Given the description of an element on the screen output the (x, y) to click on. 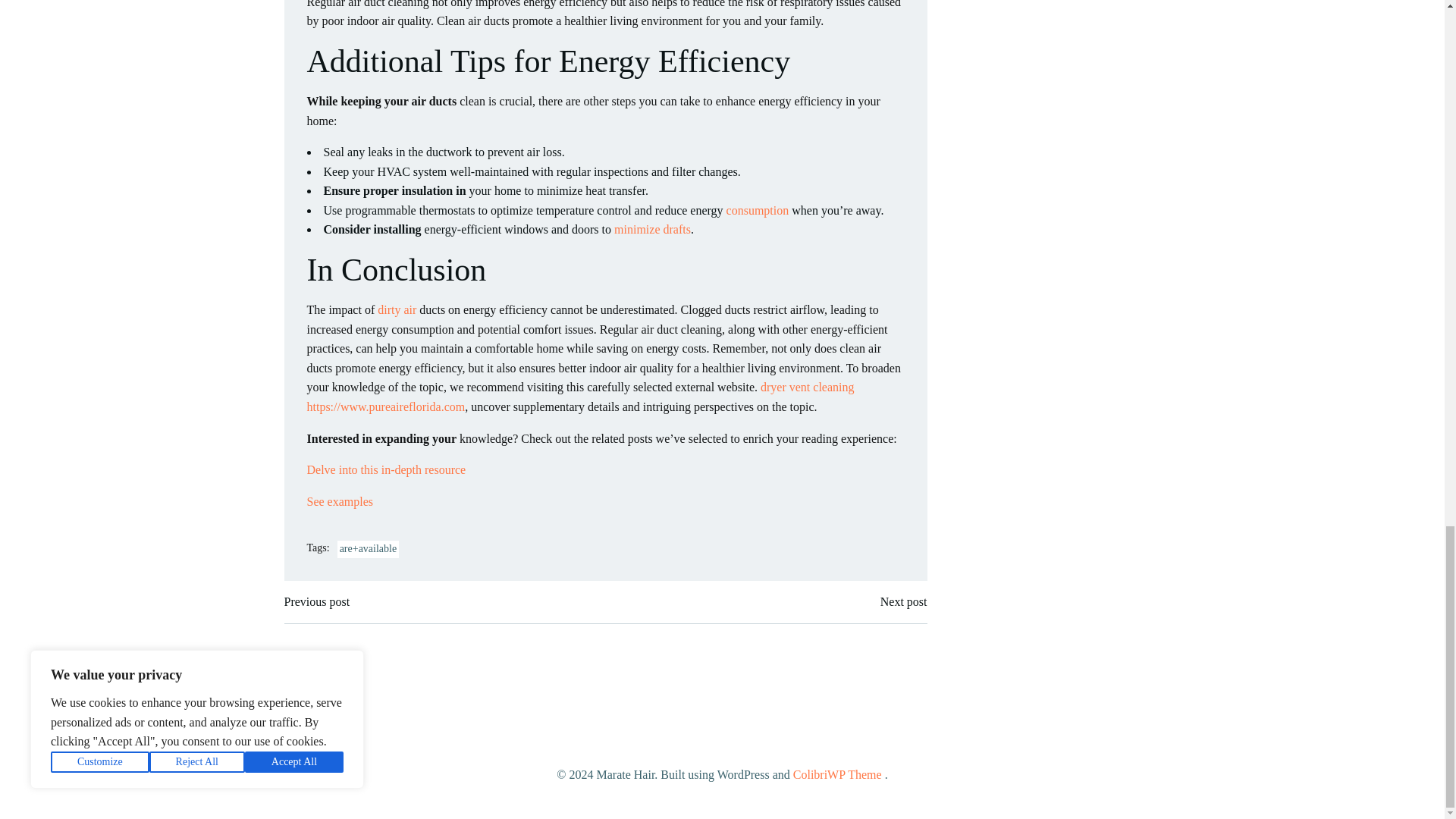
Previous post (316, 601)
See examples (338, 501)
consumption (757, 210)
Delve into this in-depth resource (385, 469)
dirty air (396, 309)
minimize drafts (652, 228)
Next post (903, 601)
